Given the description of an element on the screen output the (x, y) to click on. 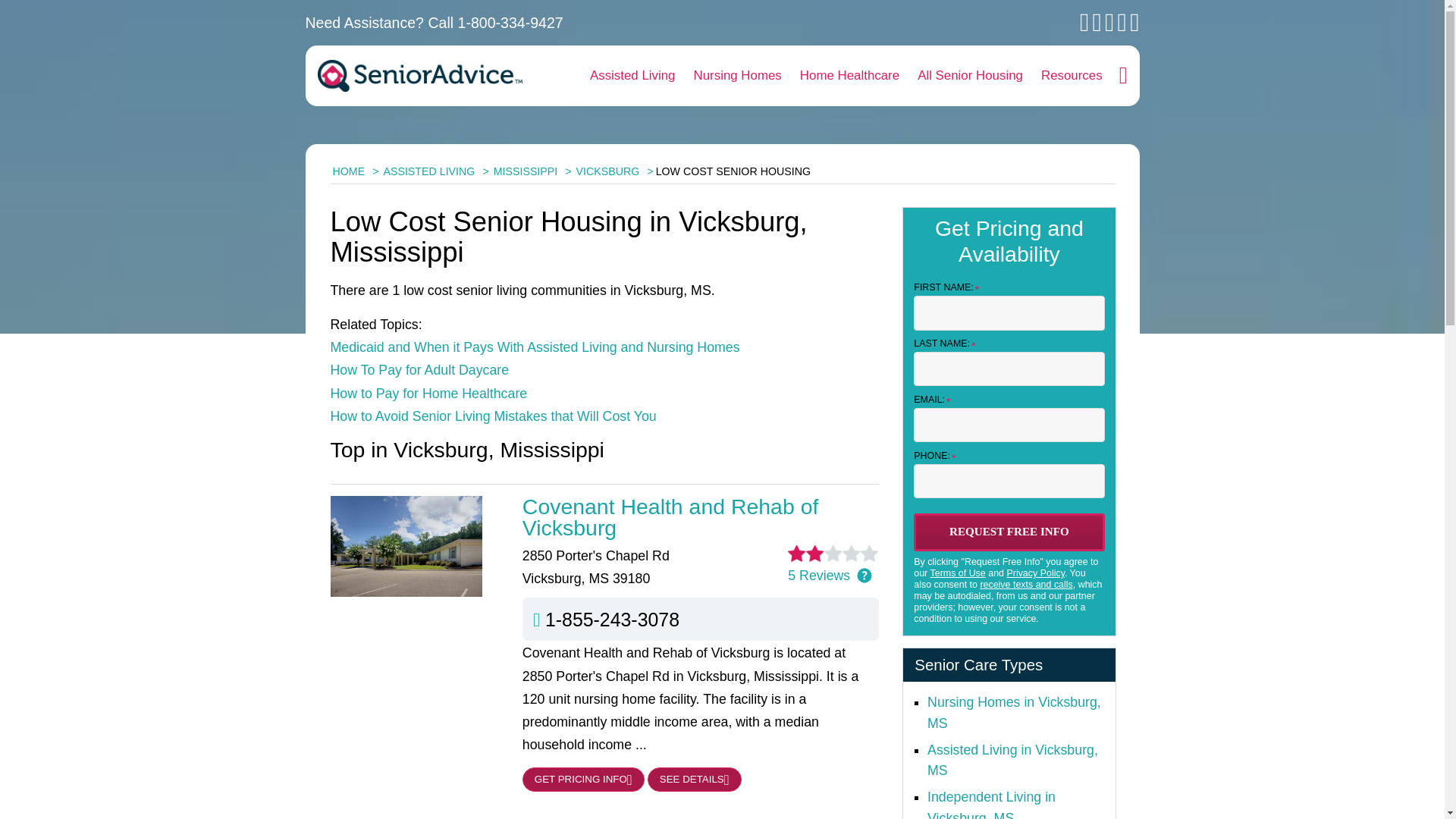
Resources (1072, 75)
Assisted Living (632, 75)
1-800-334-9427 (510, 22)
Independent (991, 804)
Nursing Homes (737, 75)
Request Free Info (1008, 531)
Assisted (1012, 760)
Home Healthcare (849, 75)
All Senior Housing (970, 75)
Nursing (1013, 712)
Covenant Health and Rehab of Vicksburg Vicksburg, MS (700, 517)
